Given the description of an element on the screen output the (x, y) to click on. 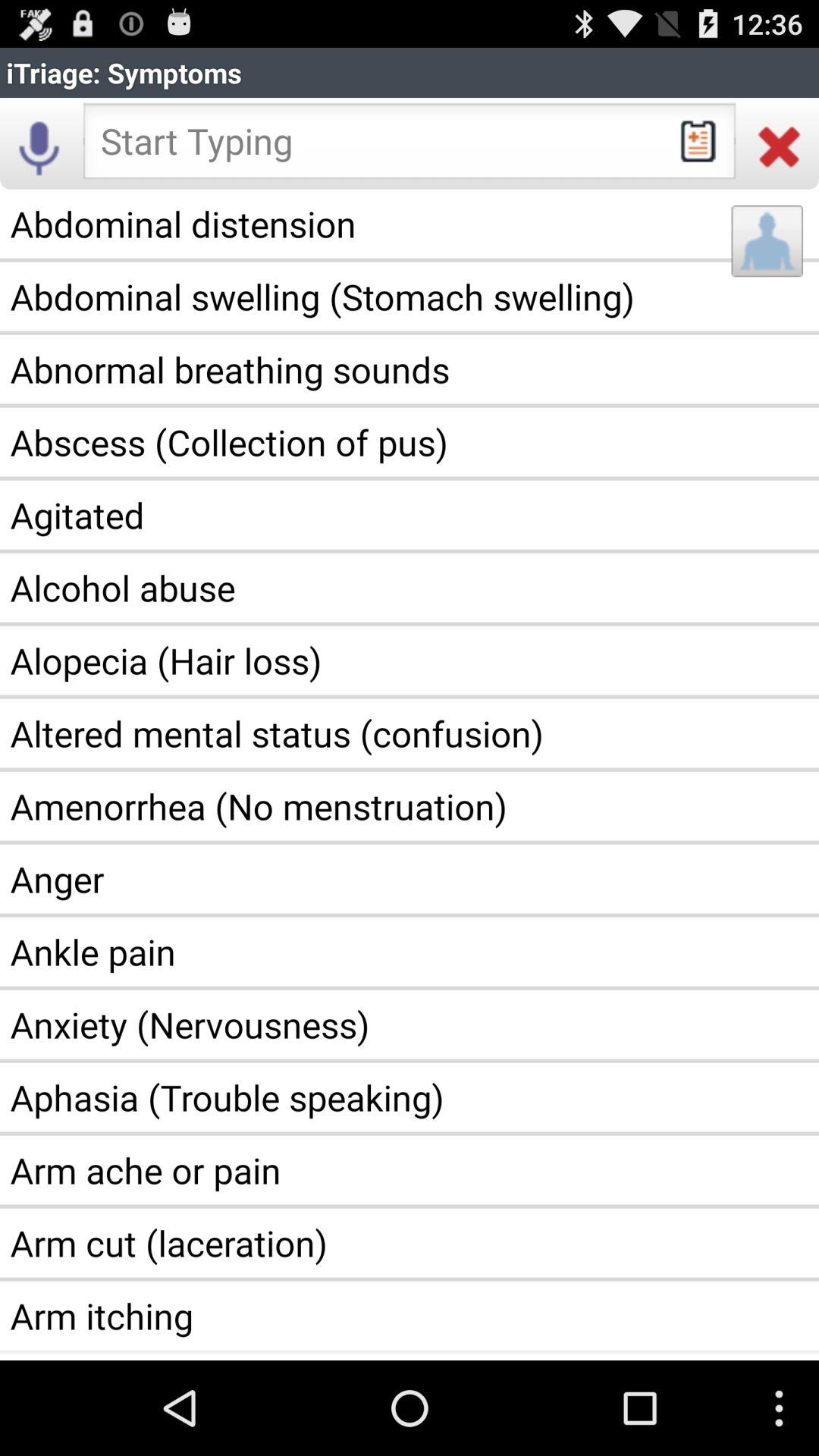
select item above arm ache or (409, 1097)
